Given the description of an element on the screen output the (x, y) to click on. 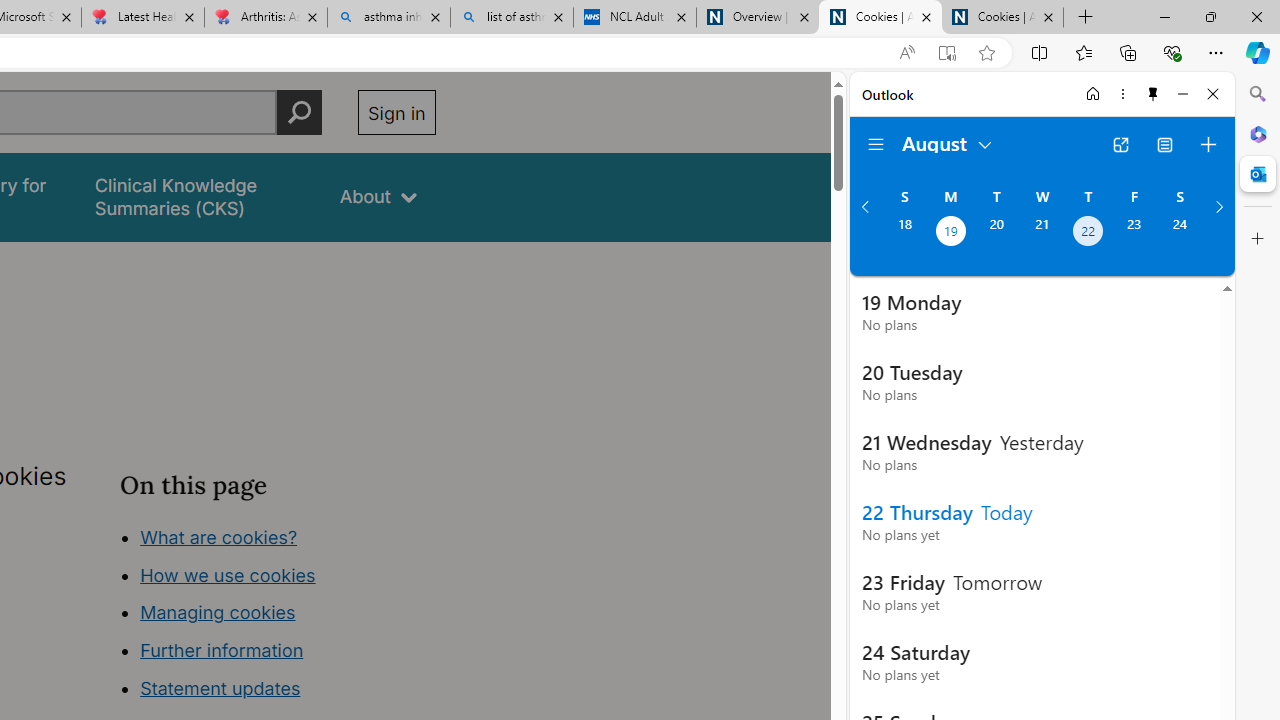
list of asthma inhalers uk - Search (511, 17)
Folder navigation (876, 144)
Perform search (299, 112)
What are cookies? (218, 536)
Arthritis: Ask Health Professionals (265, 17)
Saturday, August 24, 2024.  (1180, 233)
August (948, 141)
Sunday, August 18, 2024.  (904, 233)
NCL Adult Asthma Inhaler Choice Guideline (634, 17)
